Given the description of an element on the screen output the (x, y) to click on. 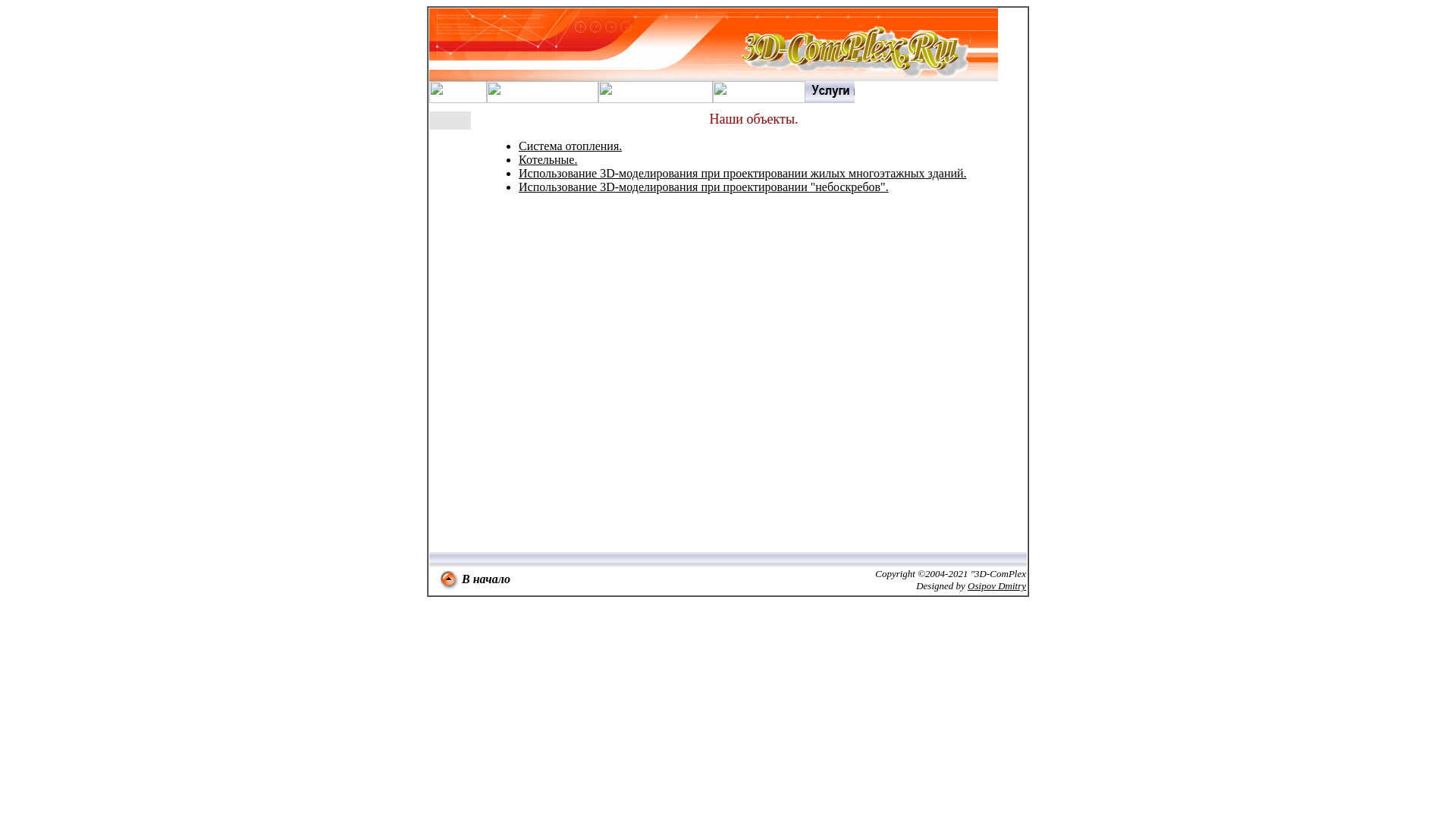
Osipov Dmitry Element type: text (996, 585)
